Given the description of an element on the screen output the (x, y) to click on. 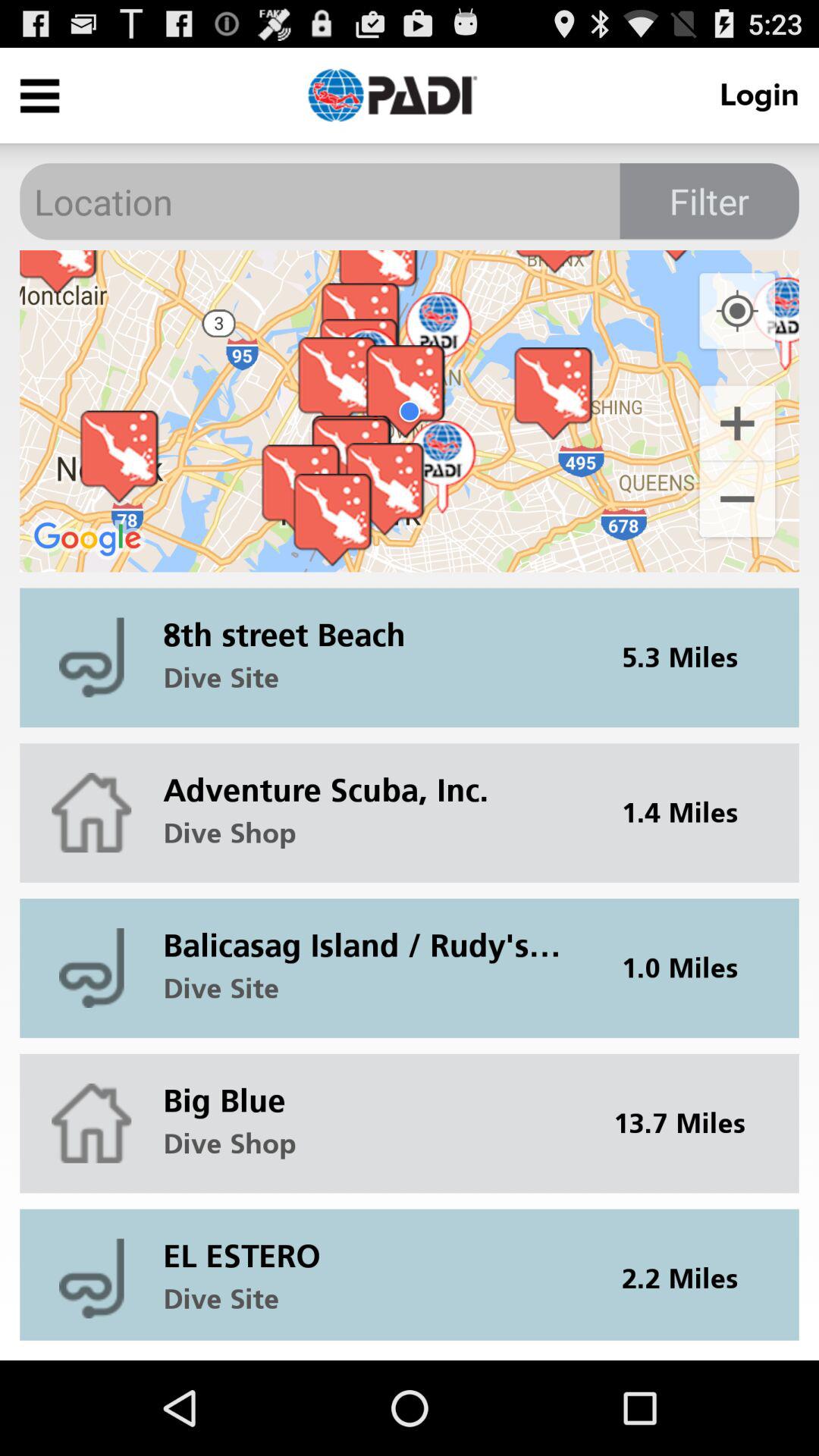
choose the item to the right of el estero icon (689, 1274)
